Given the description of an element on the screen output the (x, y) to click on. 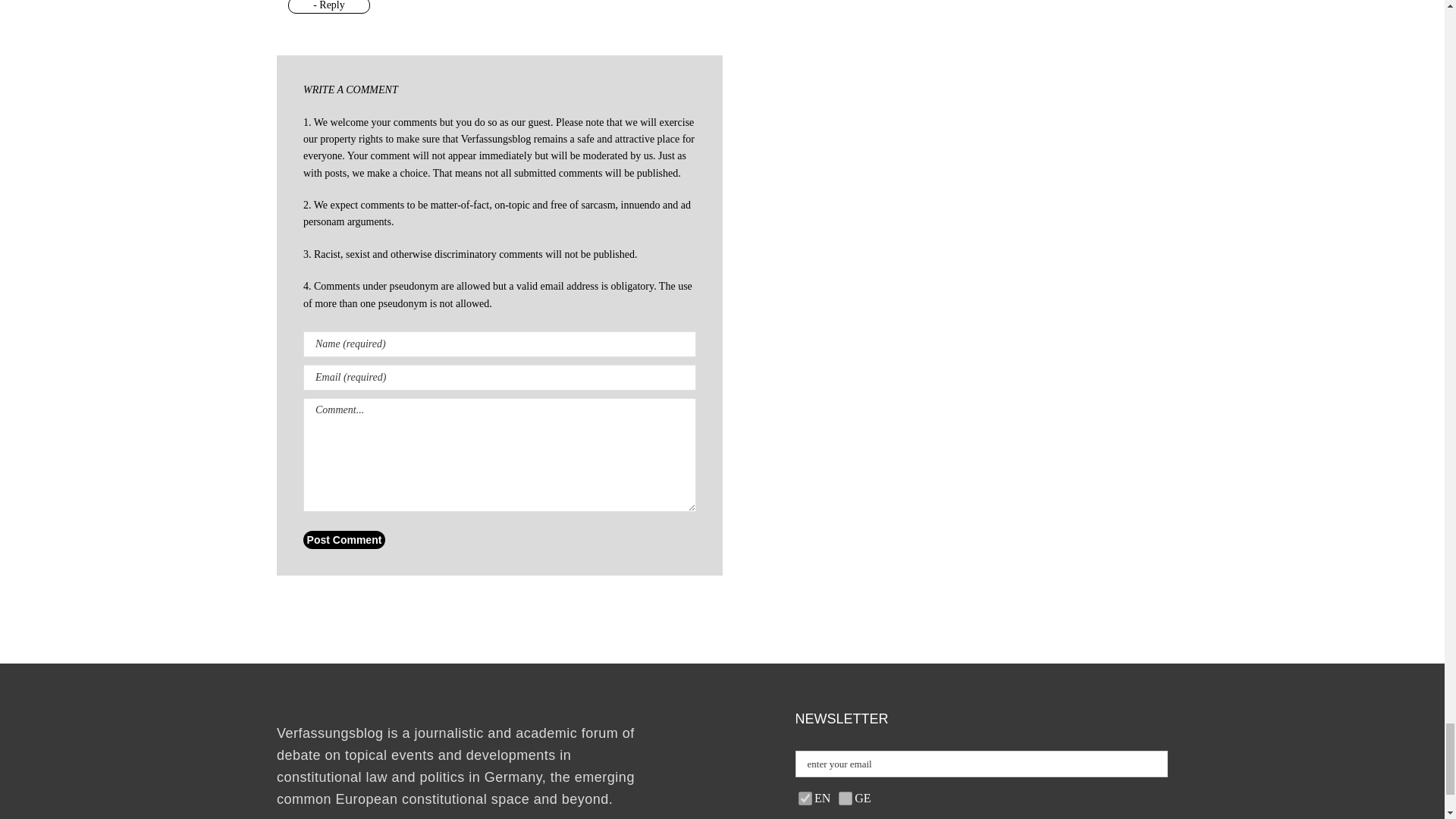
1 (844, 798)
Post Comment (343, 539)
2 (804, 798)
